Given the description of an element on the screen output the (x, y) to click on. 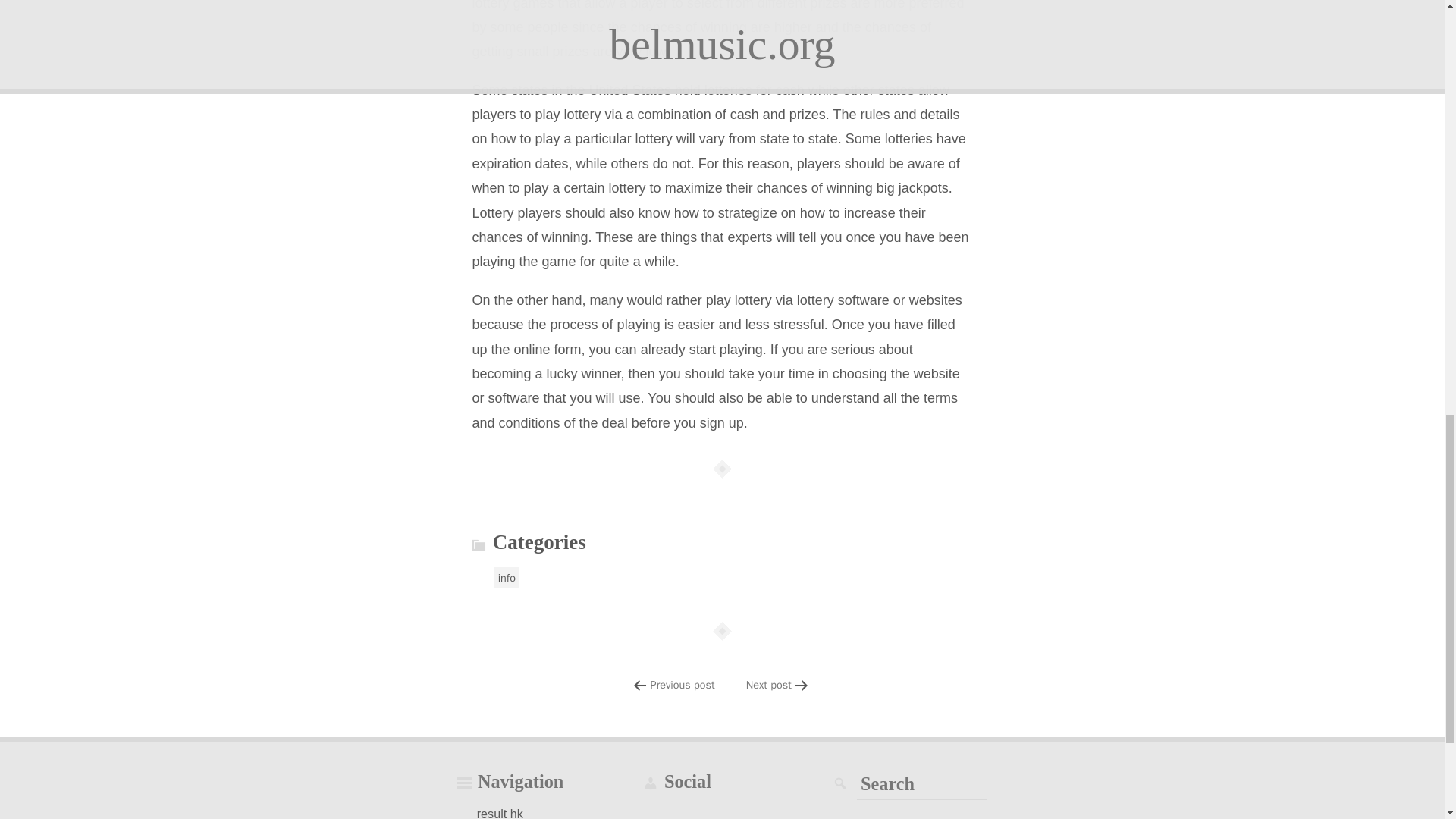
Previous post (682, 684)
info (507, 577)
Next post (768, 684)
